Given the description of an element on the screen output the (x, y) to click on. 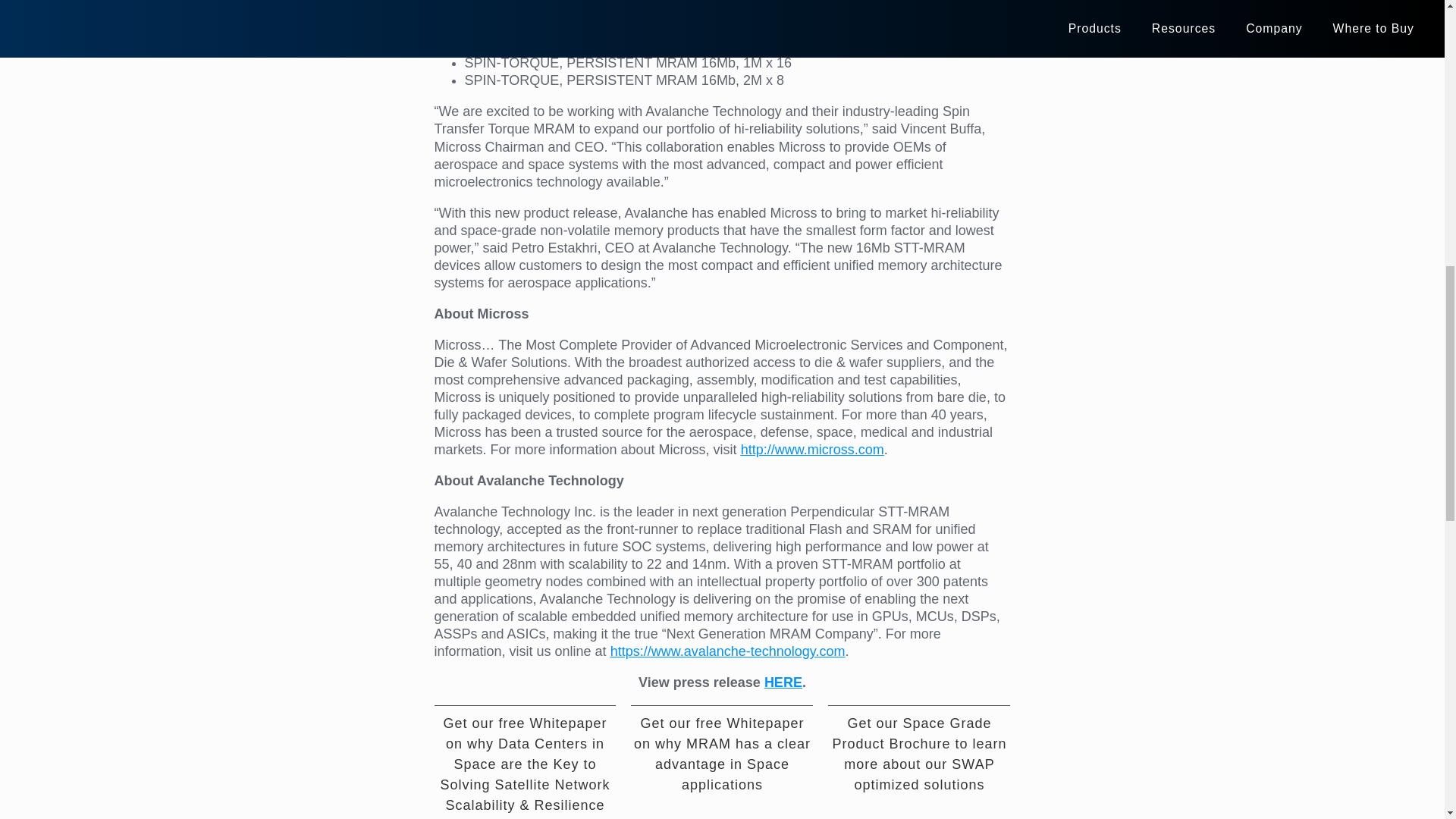
HERE (783, 682)
